Given the description of an element on the screen output the (x, y) to click on. 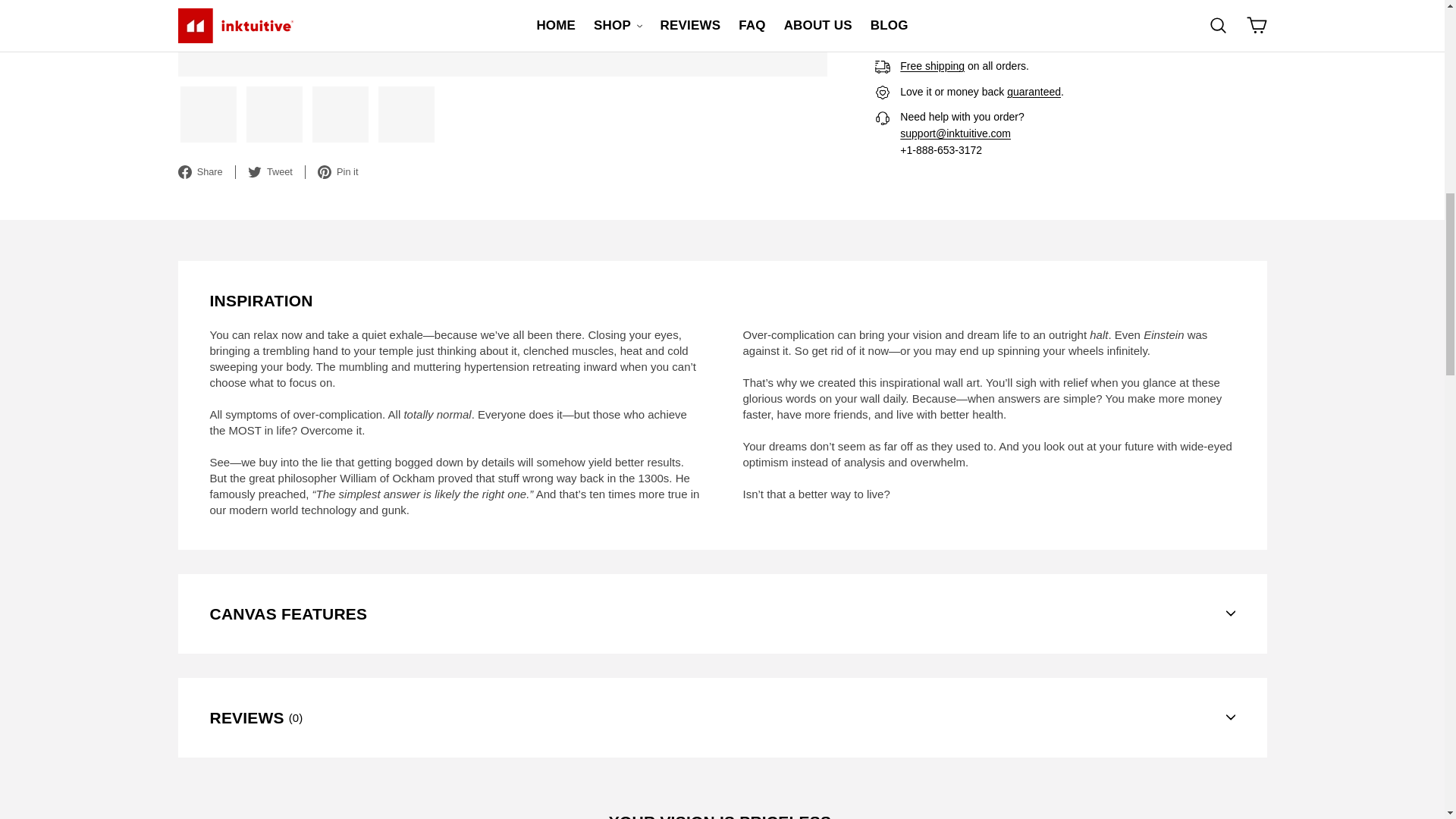
Shipping Policy (931, 65)
Tweet on Twitter (276, 17)
Pin on Pinterest (344, 17)
Refund Policy (1034, 91)
Share on Facebook (205, 17)
